Given the description of an element on the screen output the (x, y) to click on. 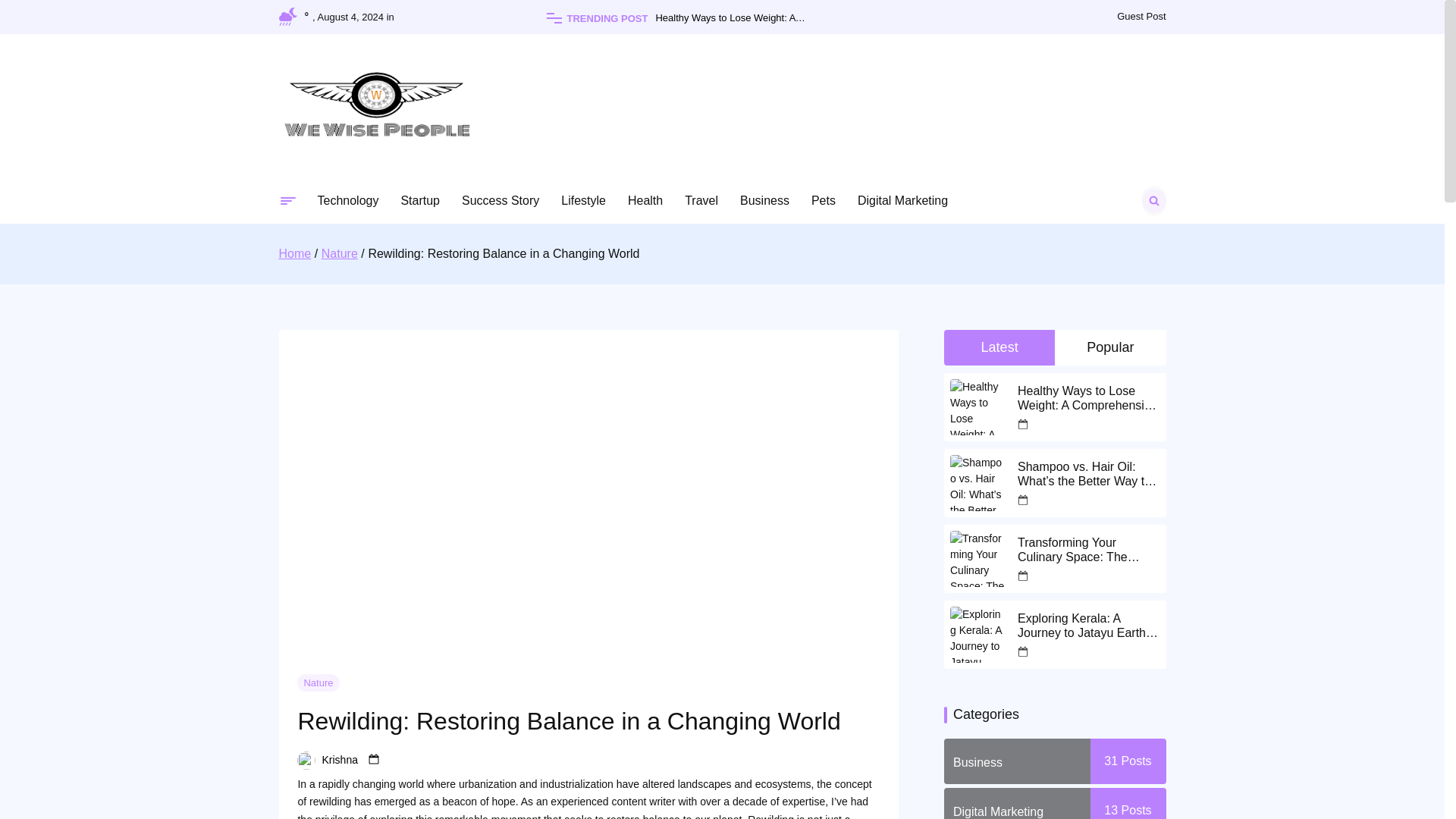
Success Story (500, 200)
Business (764, 200)
Lifestyle (583, 200)
Guest Post (1141, 16)
Startup (419, 200)
Healthy Ways to Lose Weight: A Comprehensive Guide (756, 18)
Technology (347, 200)
